Given the description of an element on the screen output the (x, y) to click on. 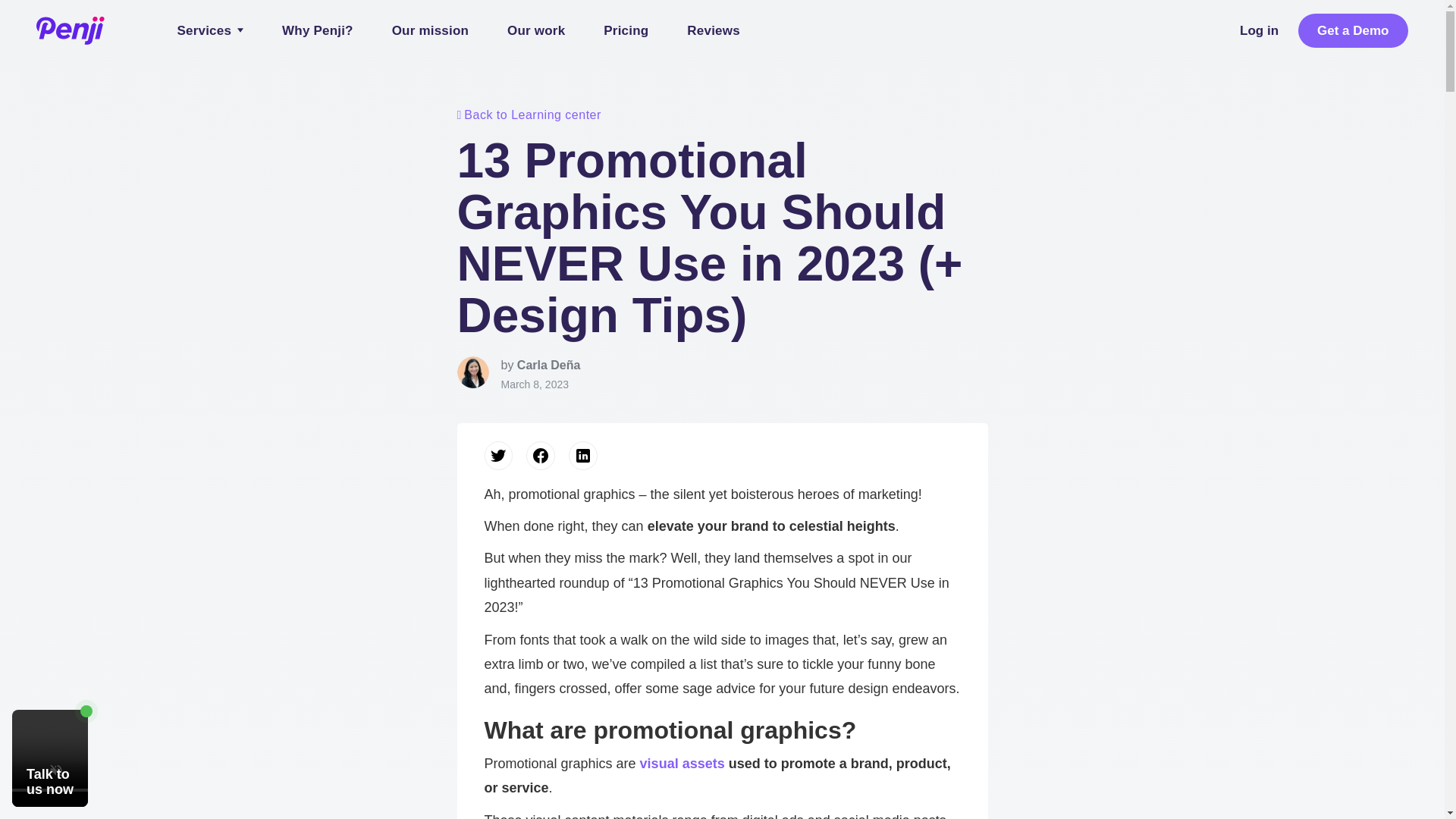
Our work (536, 30)
Our mission (429, 30)
visual assets (682, 763)
Services (210, 30)
Why Penji? (317, 30)
Log in (1259, 30)
Reviews (713, 30)
Back to Learning center (722, 114)
Pricing (626, 30)
